Given the description of an element on the screen output the (x, y) to click on. 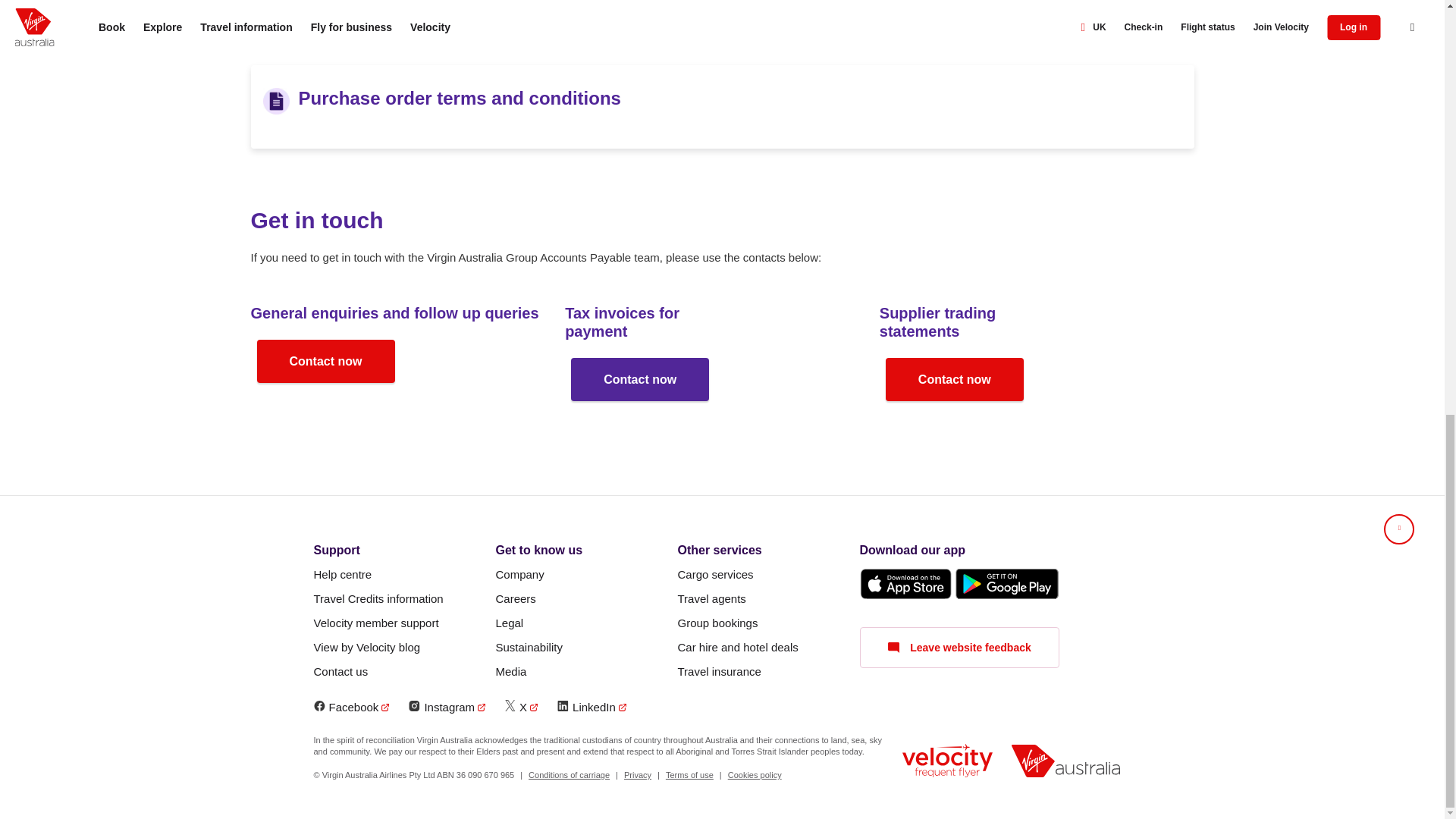
Company  (520, 574)
Travel Credits information (379, 598)
Contact now (954, 379)
Contact now (325, 361)
Media (511, 671)
Careers (515, 598)
 View by Velocity blog (367, 647)
Velocity member support  (376, 622)
Contact now                      (639, 379)
Legal (510, 622)
scroll to top button (1398, 529)
Sustainability (529, 647)
help centre link (343, 574)
Contact us (341, 671)
